Given the description of an element on the screen output the (x, y) to click on. 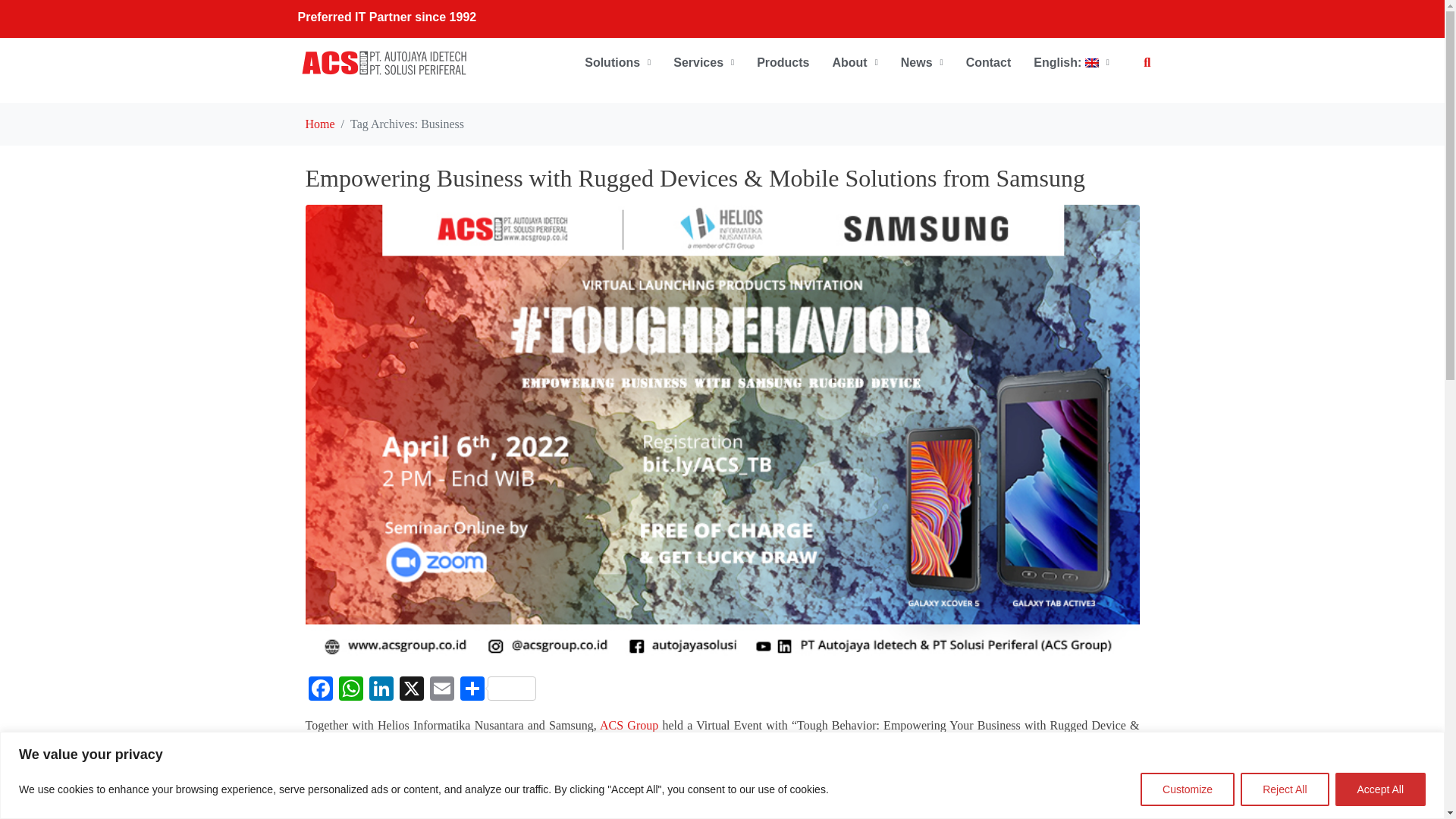
LinkedIn (380, 690)
News (922, 62)
English (1071, 62)
WhatsApp (349, 690)
Services (703, 62)
Products (783, 62)
X (411, 690)
Customize (1187, 788)
Facebook (319, 690)
About (854, 62)
Reject All (1283, 788)
Accept All (1380, 788)
Solutions (617, 62)
